Given the description of an element on the screen output the (x, y) to click on. 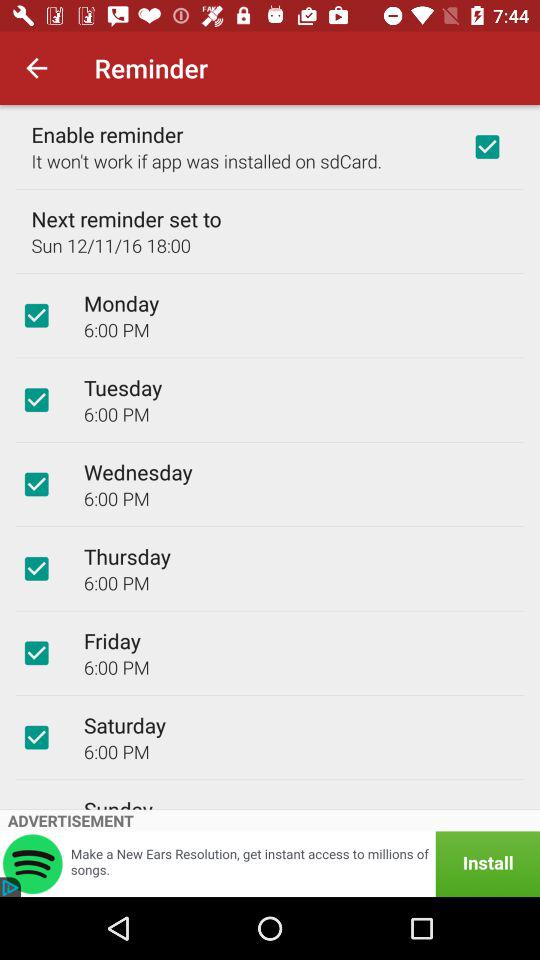
press the item next to the wednesday item (36, 484)
